Given the description of an element on the screen output the (x, y) to click on. 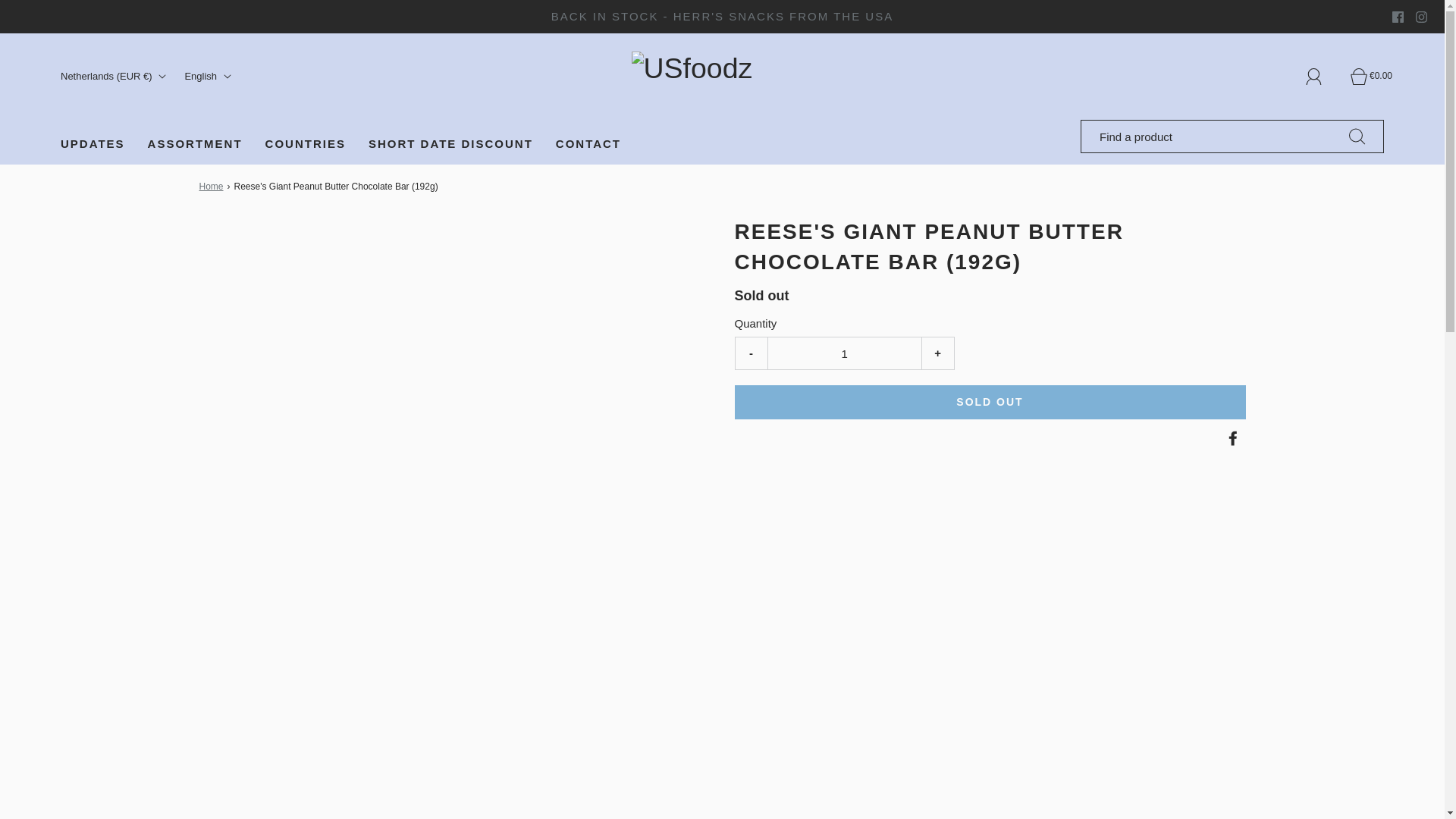
ASSORTMENT (195, 143)
Log in (1322, 76)
1 (843, 353)
English (209, 76)
FACEBOOK ICON (1397, 16)
INSTAGRAM ICON (1420, 16)
UPDATES (93, 143)
BACK IN STOCK - HERR'S SNACKS FROM THE USA (722, 15)
Cart (1367, 76)
FACEBOOK ICON (1397, 16)
